Given the description of an element on the screen output the (x, y) to click on. 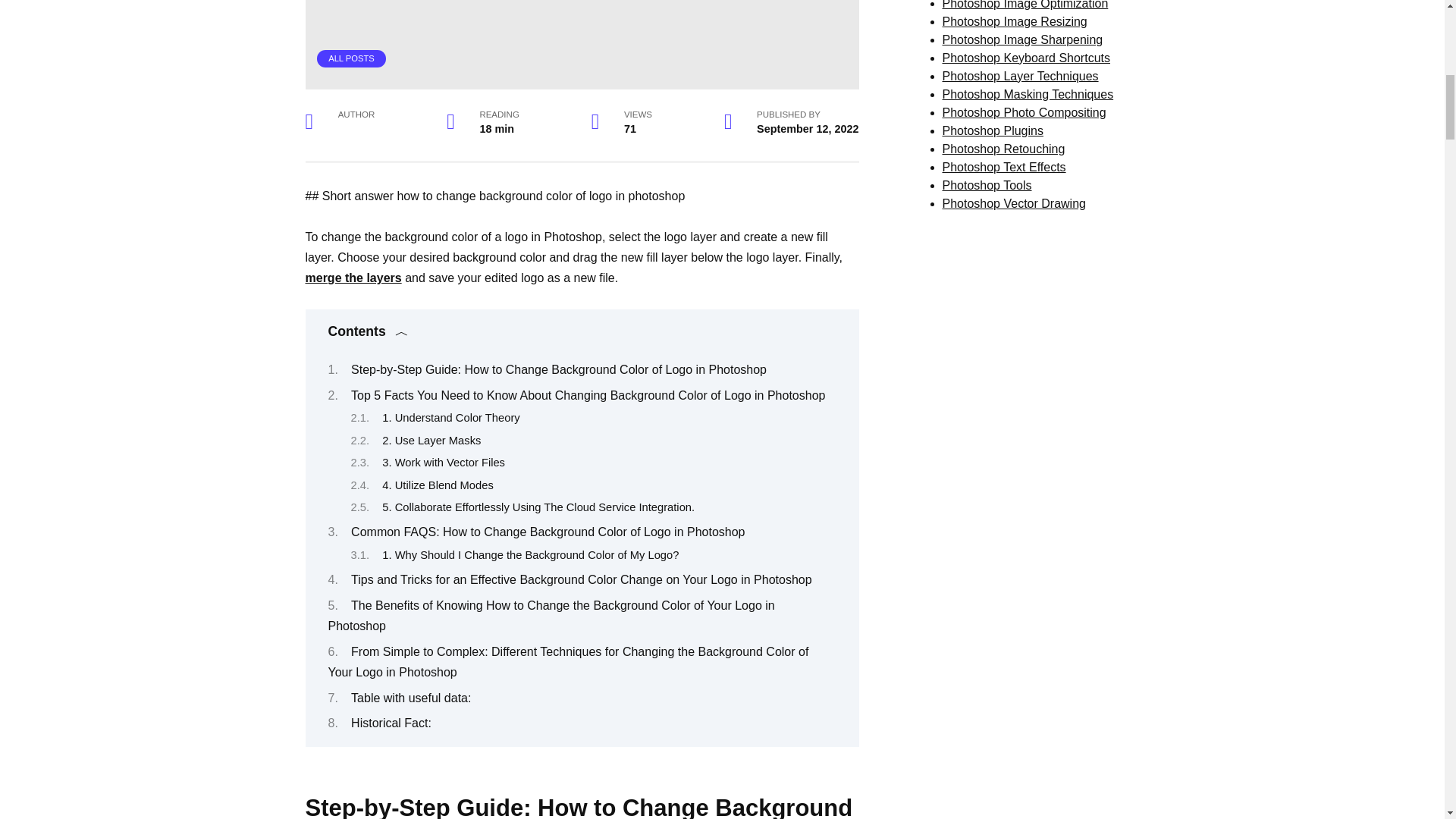
ALL POSTS (351, 58)
Historical Fact: (390, 722)
3. Work with Vector Files (443, 462)
4. Utilize Blend Modes (437, 485)
Table with useful data: (410, 697)
merge the layers (352, 277)
2. Use Layer Masks (430, 440)
